Given the description of an element on the screen output the (x, y) to click on. 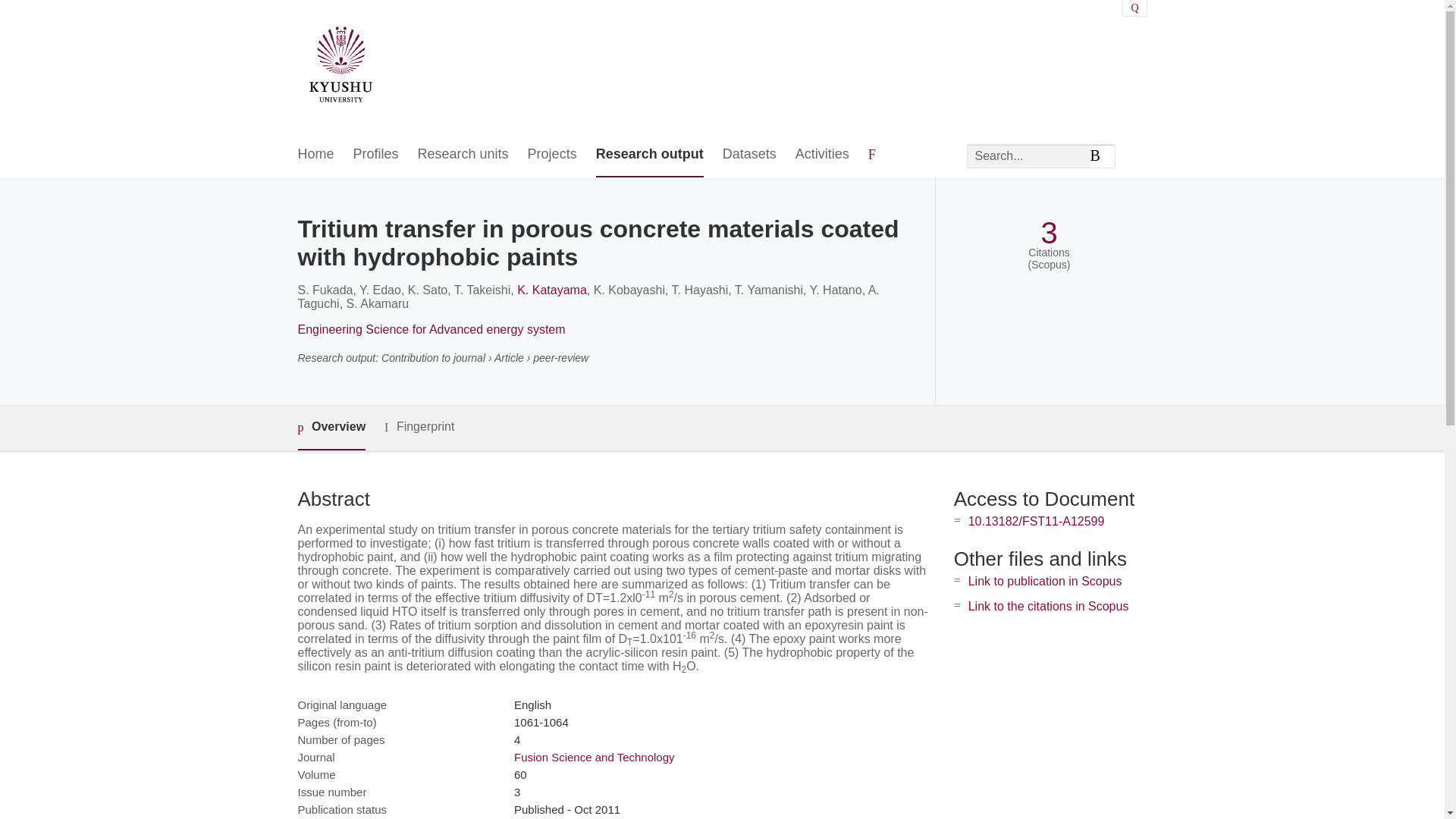
Activities (821, 154)
Projects (551, 154)
K. Katayama (551, 289)
Link to publication in Scopus (1045, 581)
Fusion Science and Technology (594, 757)
Datasets (749, 154)
Link to the citations in Scopus (1048, 605)
Profiles (375, 154)
Overview (331, 427)
Research output (649, 154)
Engineering Science for Advanced energy system (430, 328)
Research units (462, 154)
Fingerprint (419, 426)
